Given the description of an element on the screen output the (x, y) to click on. 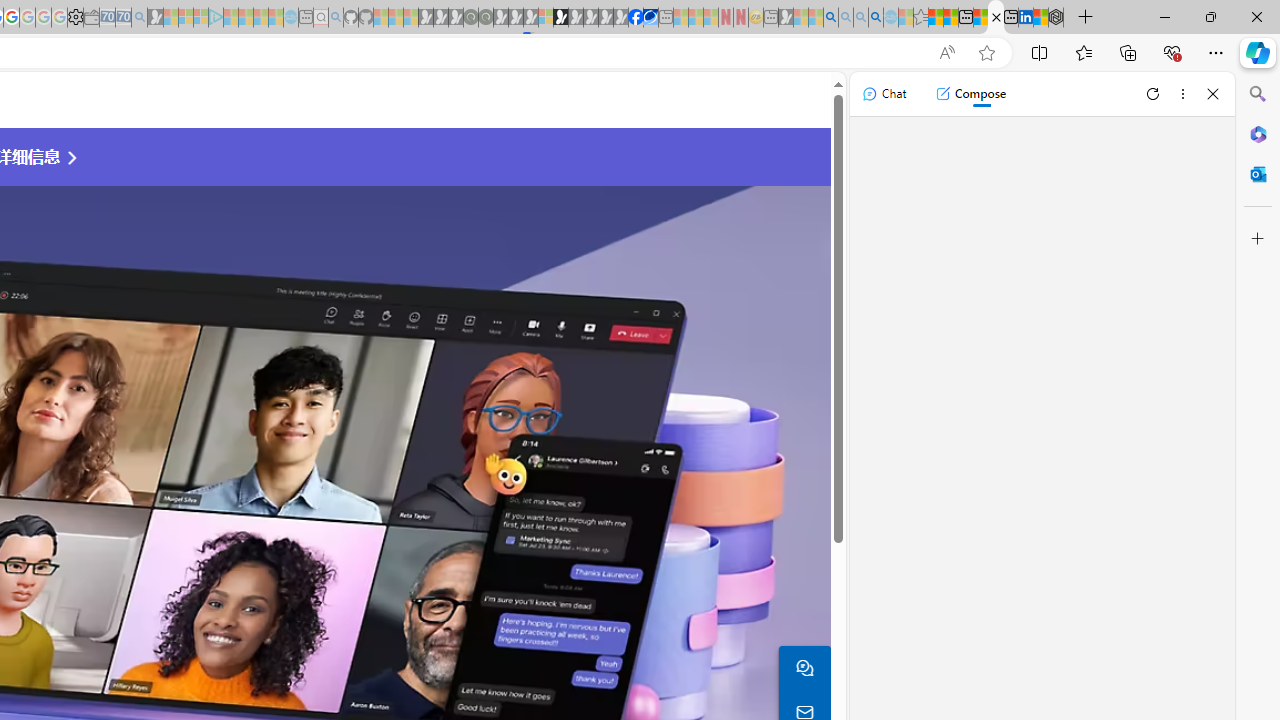
Nordace | Facebook (635, 17)
